Given the description of an element on the screen output the (x, y) to click on. 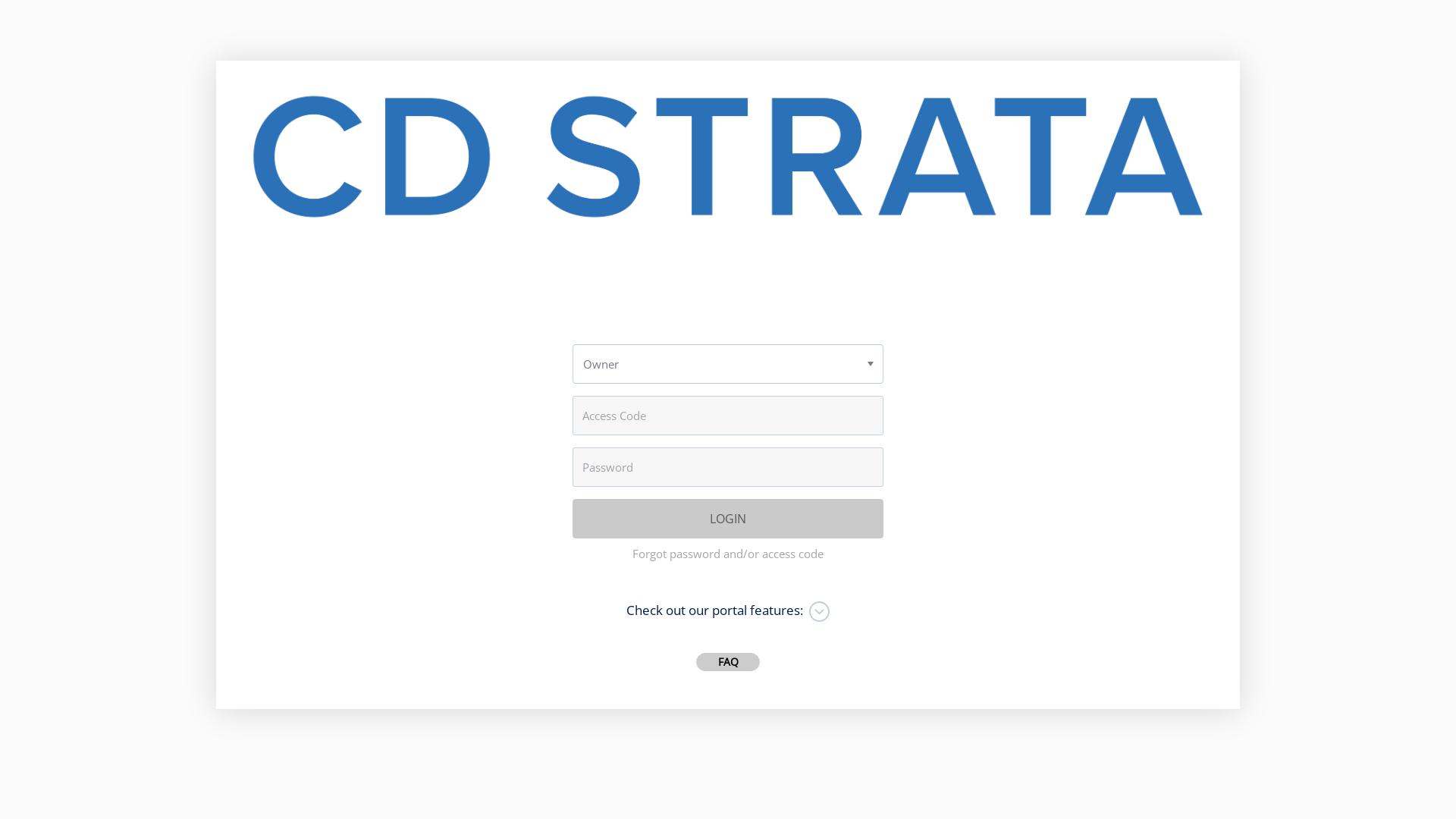
FAQ Element type: text (727, 661)
LOGIN Element type: text (727, 518)
Forgot password and/or access code Element type: text (727, 553)
